Given the description of an element on the screen output the (x, y) to click on. 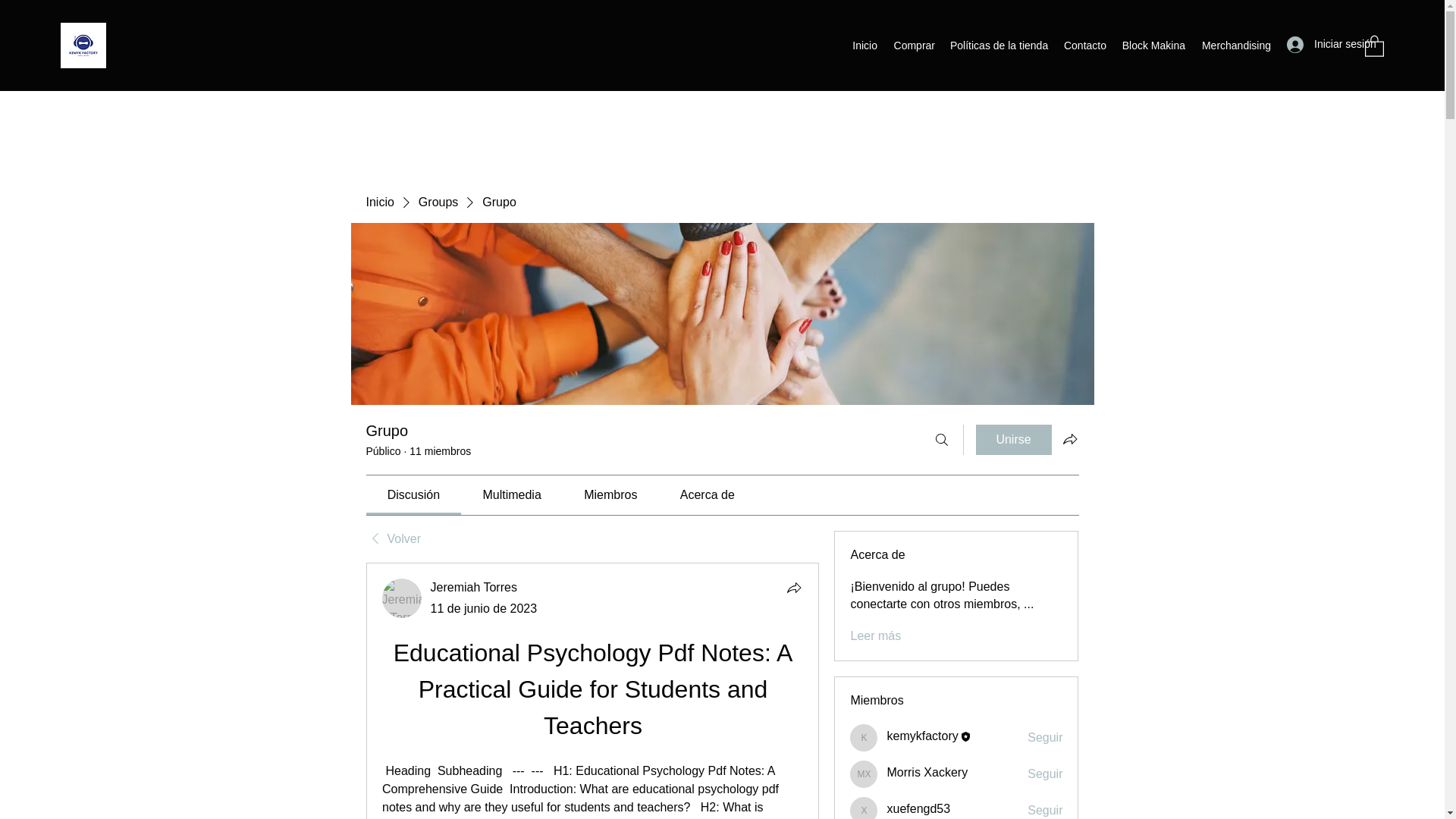
Seguir (1044, 810)
Seguir (1044, 737)
Merchandising (1235, 45)
xuefengd53 (863, 807)
Unirse (1013, 440)
kemykfactory (922, 736)
Comprar (913, 45)
Inicio (864, 45)
xuefengd53 (918, 808)
Morris Xackery (927, 772)
